Given the description of an element on the screen output the (x, y) to click on. 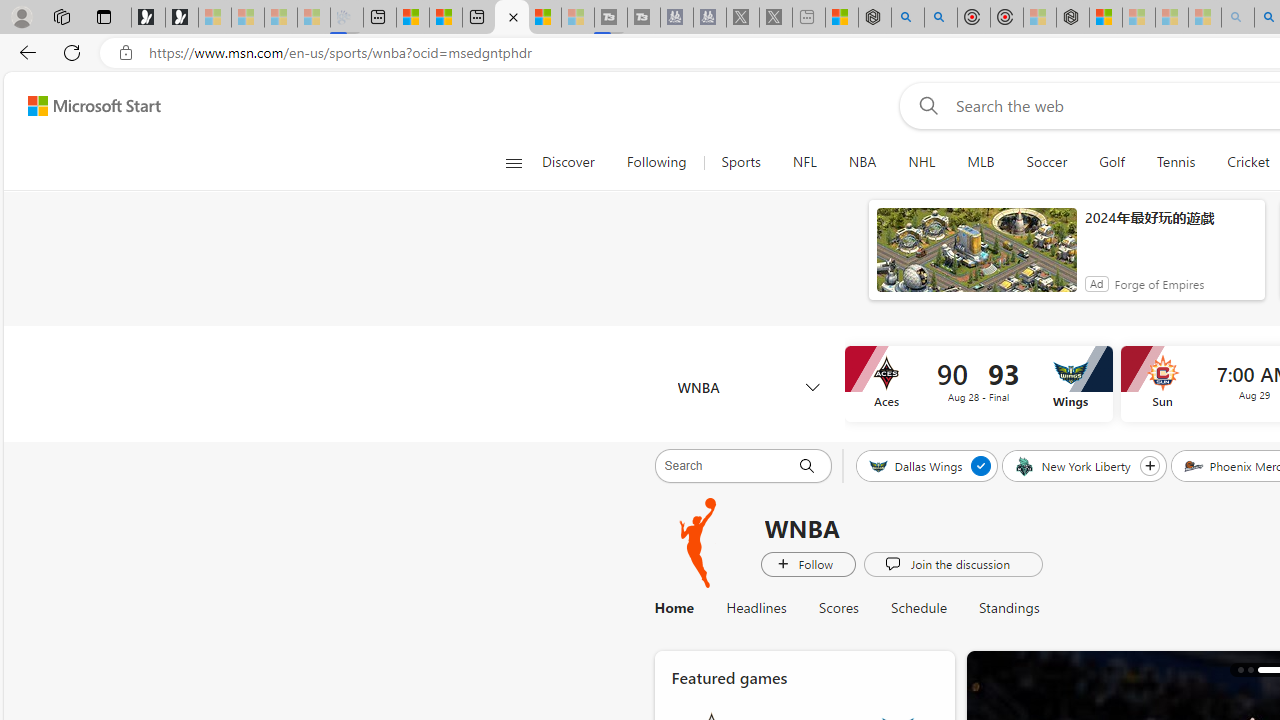
Skip to content (86, 105)
Skip to footer (82, 105)
Headlines (756, 607)
Tennis (1176, 162)
Streaming Coverage | T3 - Sleeping (611, 17)
